Given the description of an element on the screen output the (x, y) to click on. 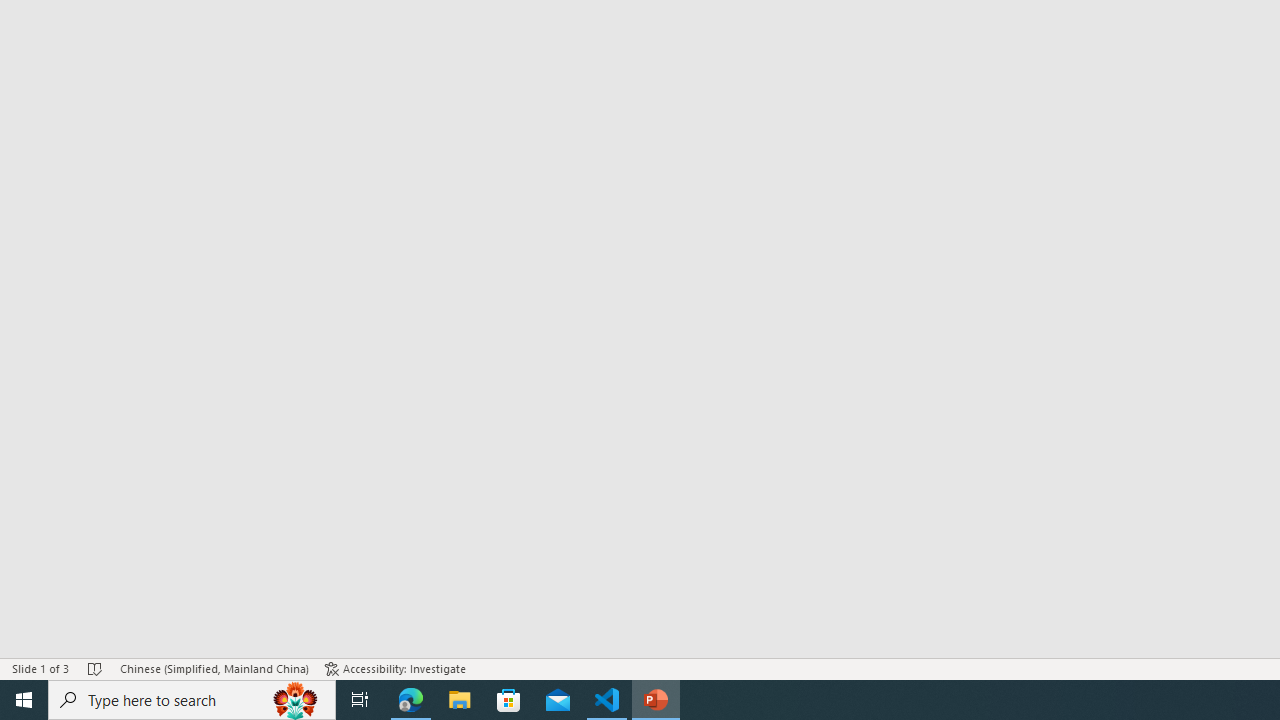
Spell Check No Errors (95, 668)
Accessibility Checker Accessibility: Investigate (395, 668)
